Given the description of an element on the screen output the (x, y) to click on. 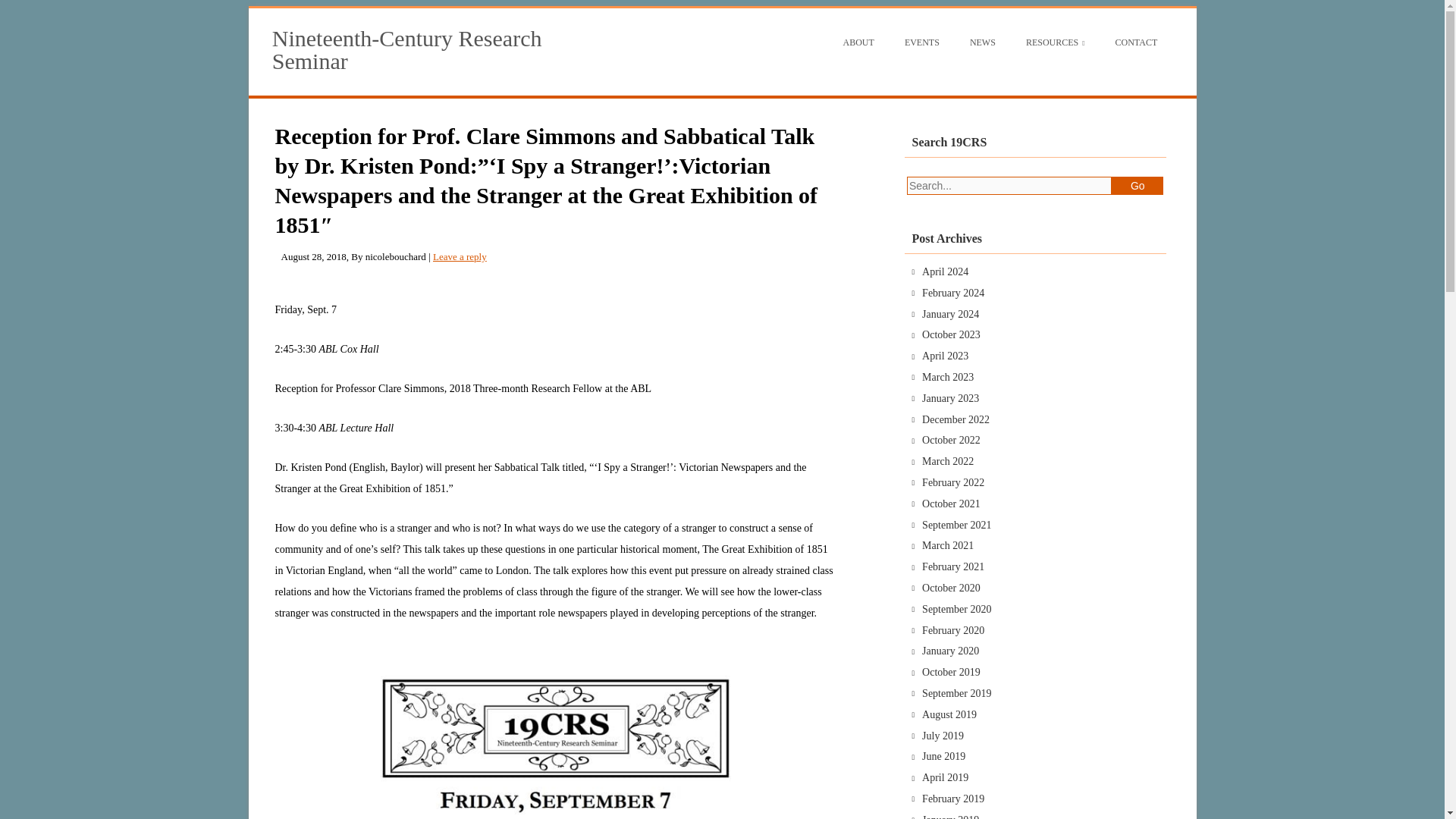
March 2022 (947, 460)
September 2021 (956, 524)
NEWS (982, 42)
January 2020 (949, 650)
April 2023 (944, 355)
RESOURCES (1055, 42)
January 2023 (949, 398)
February 2020 (952, 630)
April 2024 (944, 271)
EVENTS (922, 42)
